Given the description of an element on the screen output the (x, y) to click on. 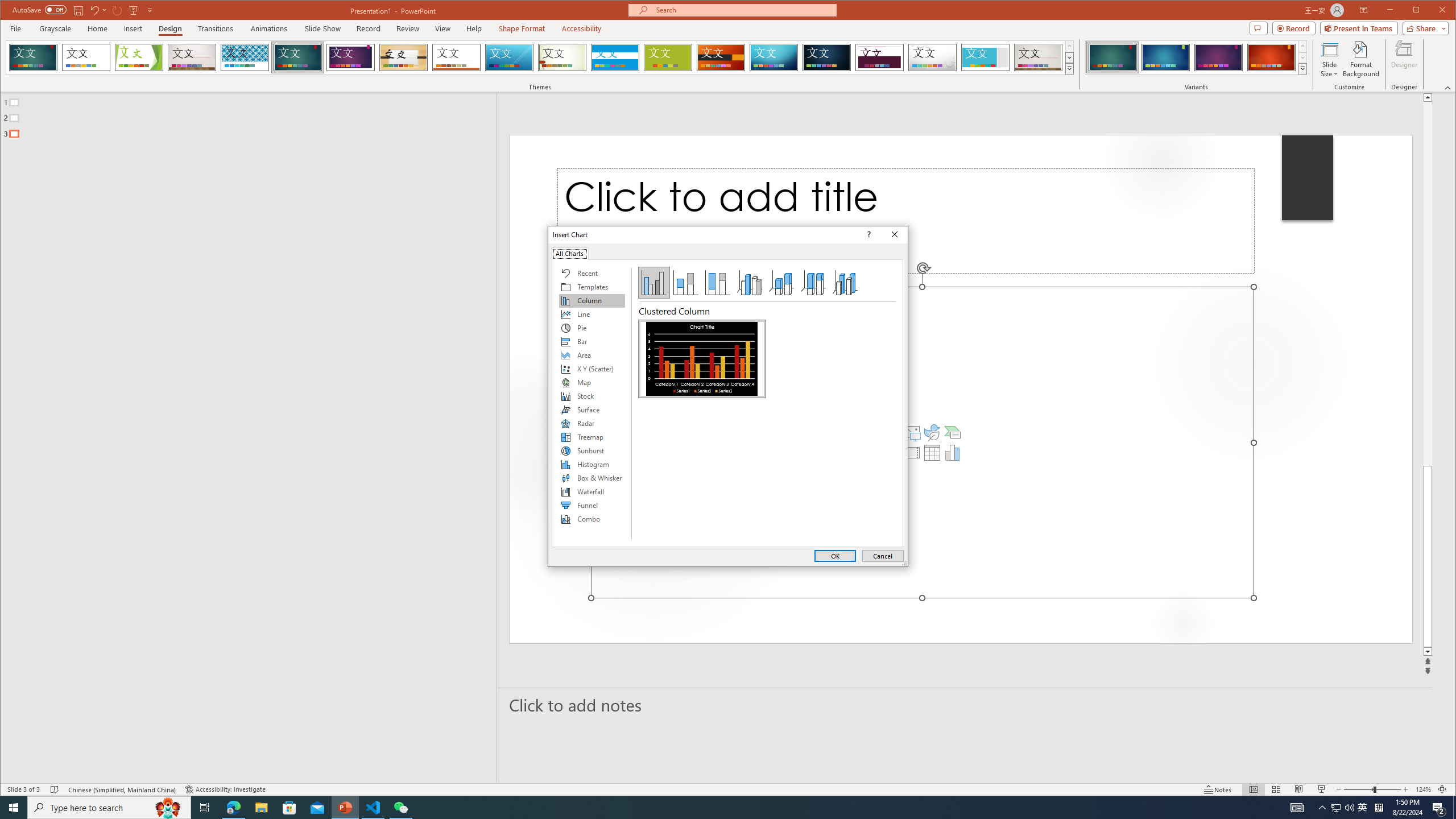
Ion Variant 3 (1218, 57)
Retrospect (456, 57)
3-D Clustered Column (749, 282)
Templates (591, 287)
3-D Stacked Column (781, 282)
Grayscale (55, 28)
